Given the description of an element on the screen output the (x, y) to click on. 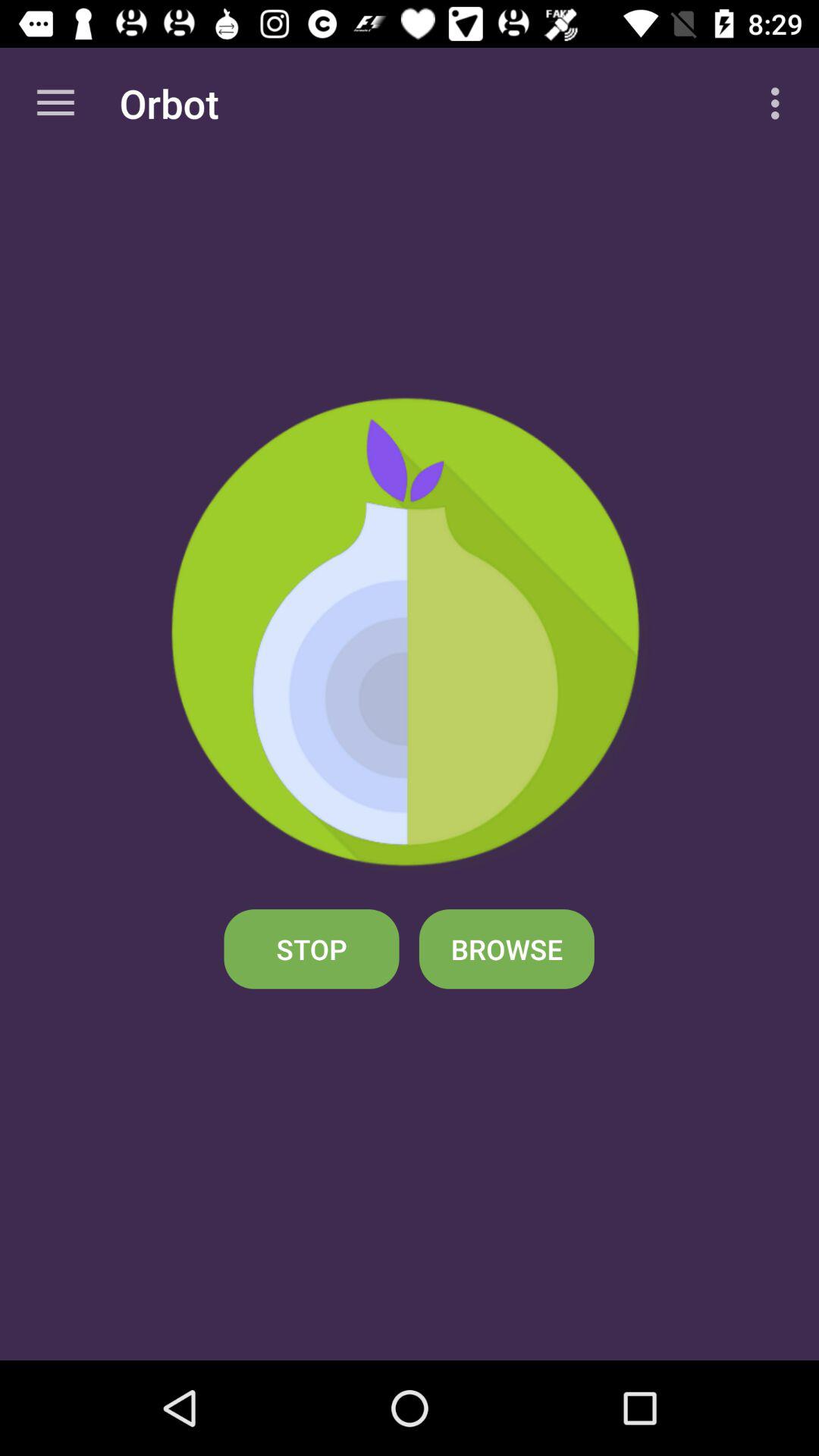
tap the app next to the orbot app (55, 103)
